Given the description of an element on the screen output the (x, y) to click on. 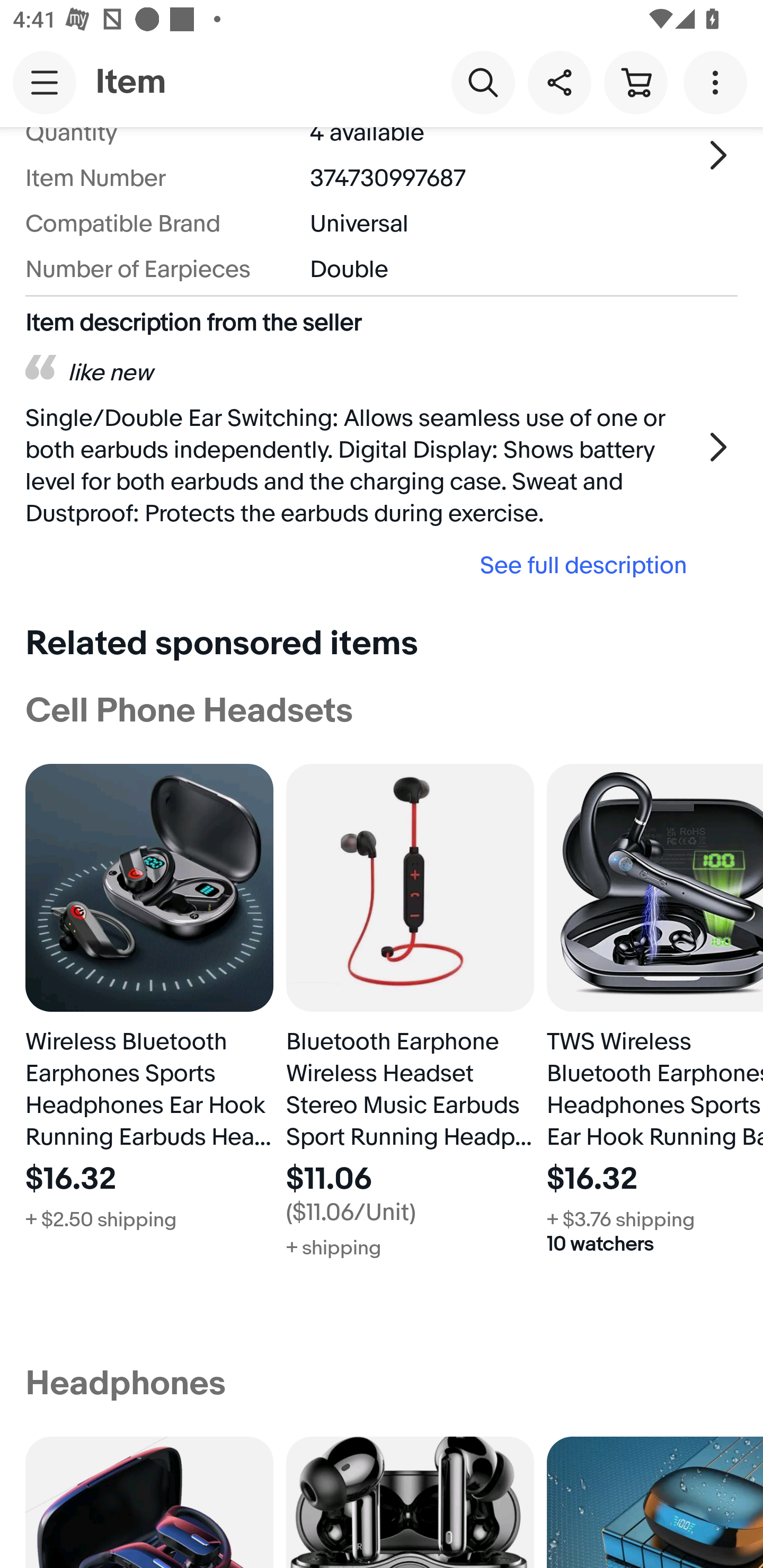
Main navigation, open (44, 82)
Search (482, 81)
Share this item (559, 81)
Cart button shopping cart (635, 81)
More options (718, 81)
See full description (362, 564)
